Given the description of an element on the screen output the (x, y) to click on. 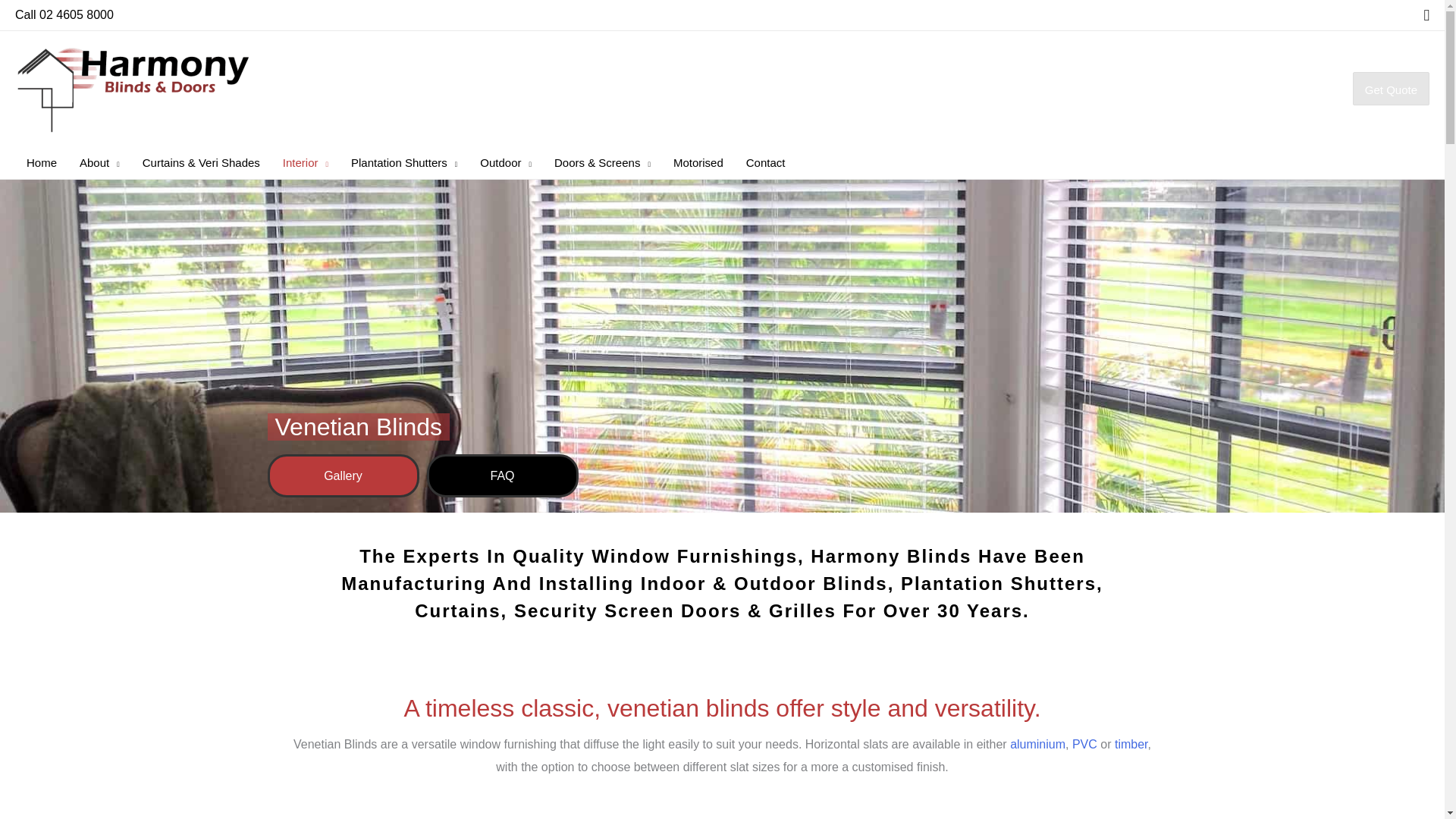
About (99, 162)
Home (41, 162)
Interior (304, 162)
Plantation Shutters (403, 162)
Get Quote (1390, 89)
Call 02 4605 8000 (63, 14)
Outdoor (505, 162)
Get Quote (1390, 89)
